Given the description of an element on the screen output the (x, y) to click on. 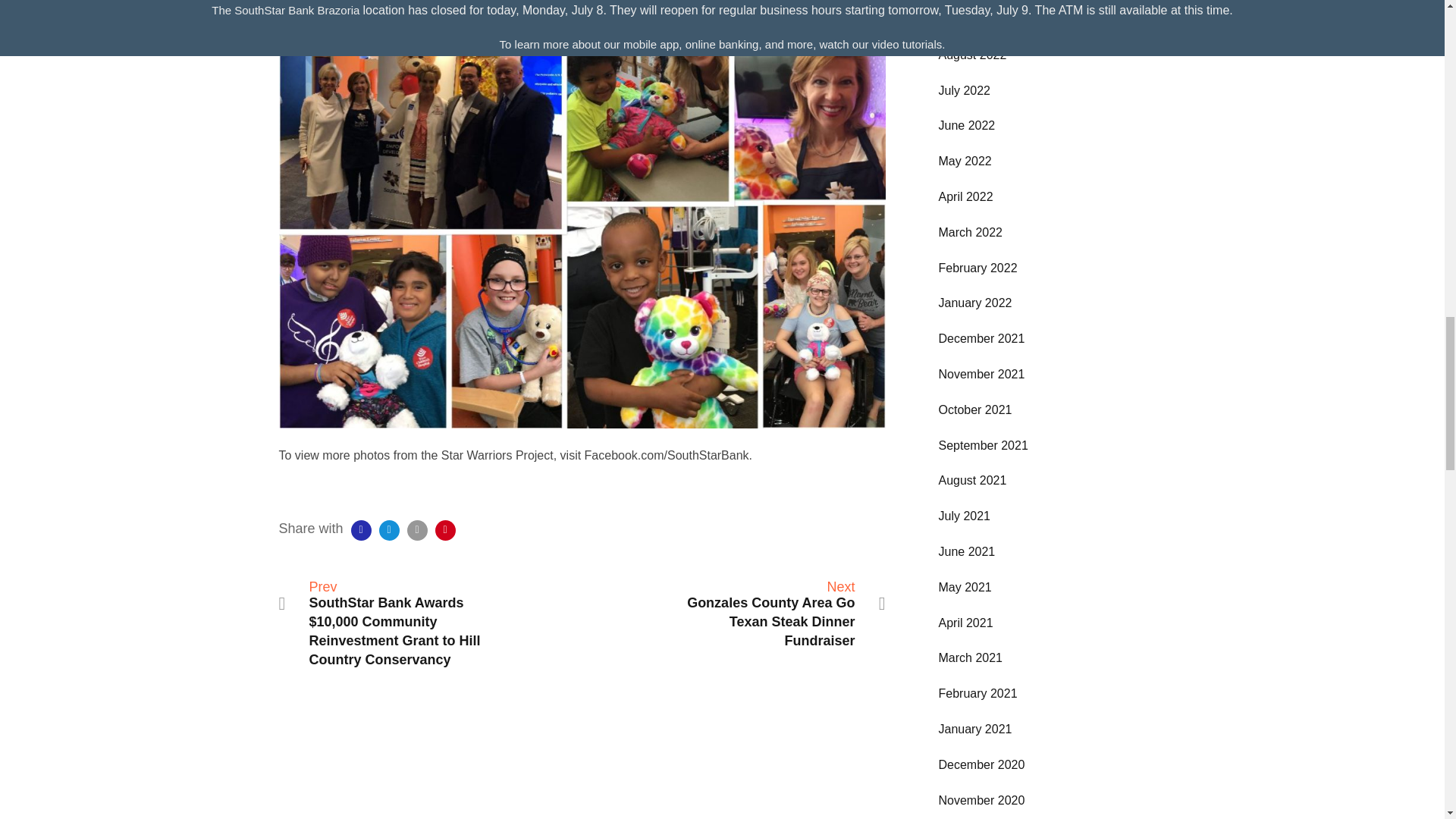
Share this post on Twitter (388, 530)
Share this post on Linked In (417, 530)
Share this post on Facebook (360, 530)
Share this post on Pinterest (445, 530)
